Given the description of an element on the screen output the (x, y) to click on. 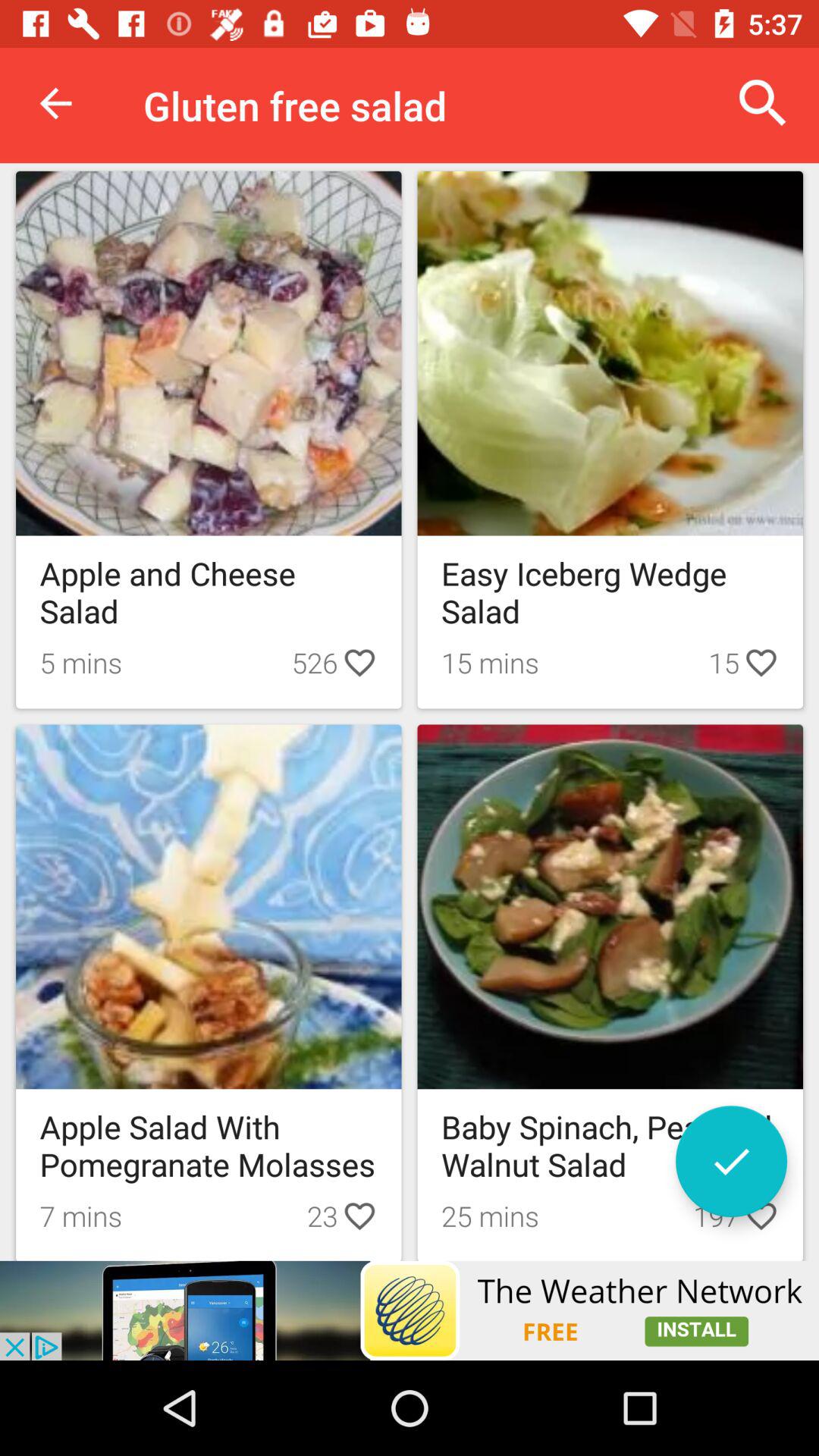
go to previous search (731, 1161)
